Given the description of an element on the screen output the (x, y) to click on. 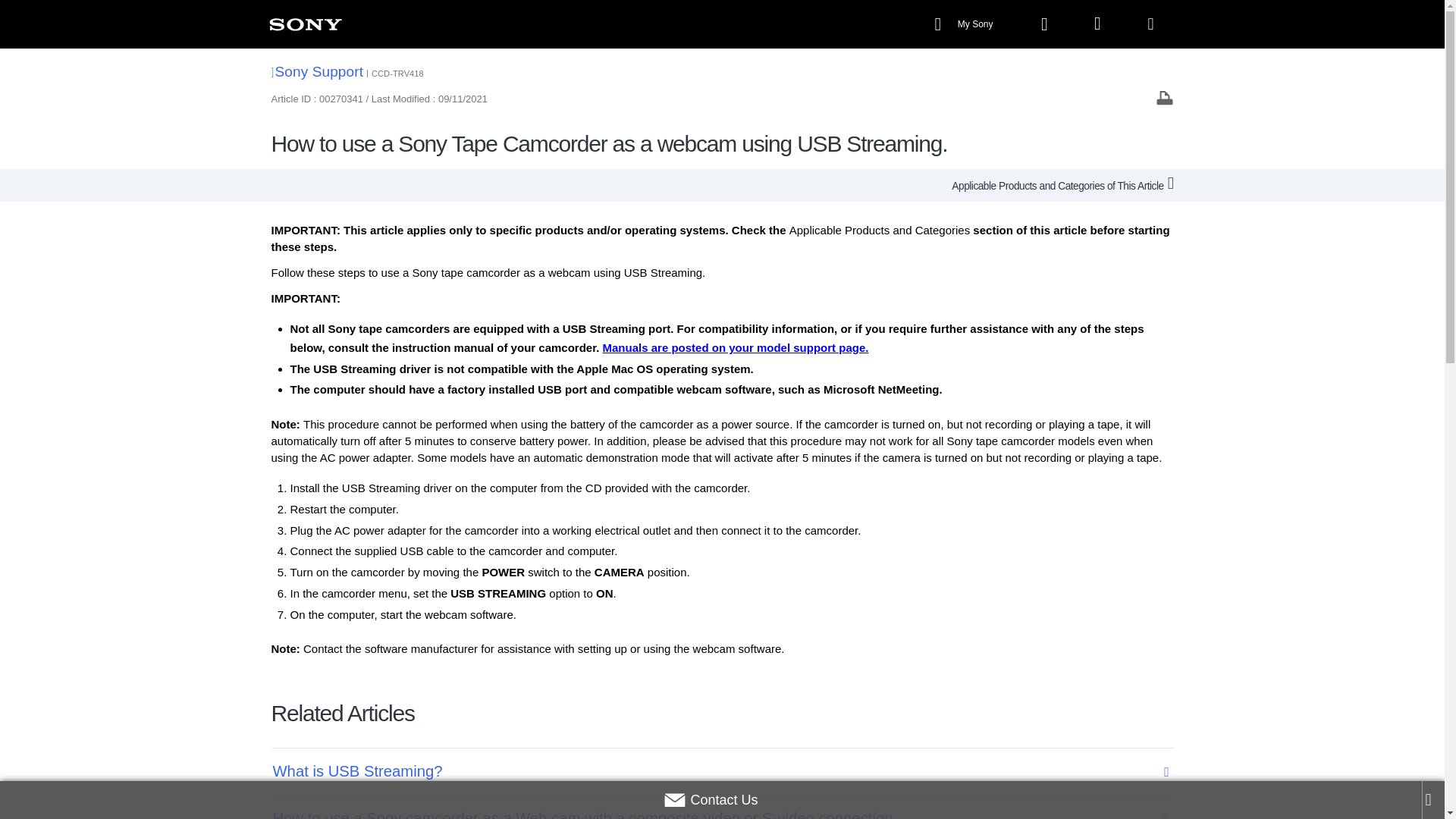
My Sony (964, 24)
Contact Us (710, 799)
Print (1164, 97)
